Given the description of an element on the screen output the (x, y) to click on. 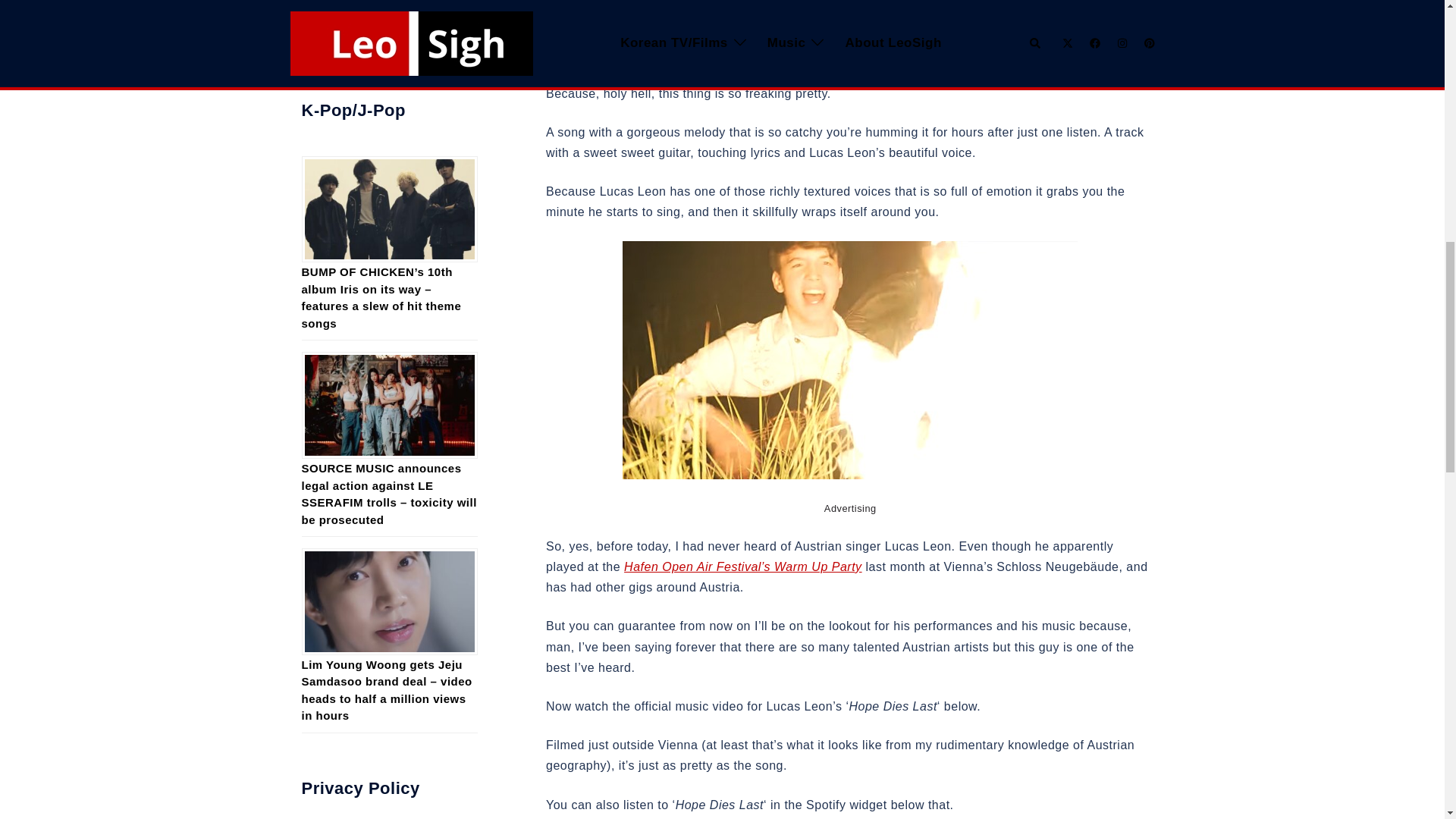
0:48 (725, 12)
